Given the description of an element on the screen output the (x, y) to click on. 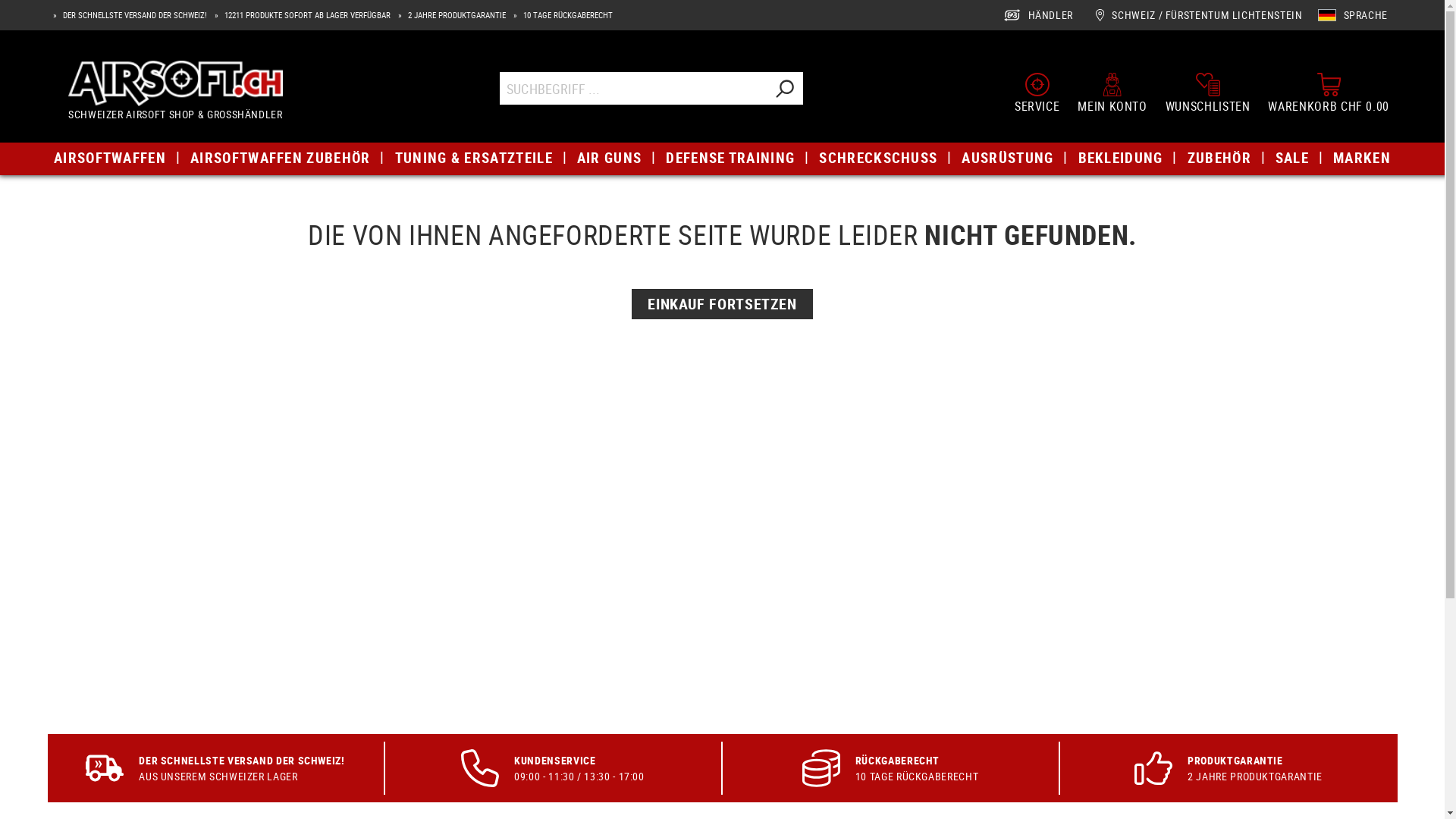
TUNING & ERSATZTEILE Element type: text (473, 158)
BEKLEIDUNG Element type: text (1120, 158)
MEIN KONTO Element type: text (1111, 92)
SERVICE Element type: text (1036, 92)
SALE Element type: text (1292, 158)
WARENKORB CHF 0.00 Element type: text (1328, 92)
AIR GUNS Element type: text (609, 158)
Airsoft.ch Element type: hover (175, 83)
AIRSOFTWAFFEN Element type: text (109, 158)
DEFENSE TRAINING Element type: text (729, 158)
Airsoft.ch Element type: hover (175, 92)
WUNSCHLISTEN Element type: text (1207, 92)
SCHRECKSCHUSS Element type: text (877, 158)
EINKAUF FORTSETZEN Element type: text (721, 303)
MARKEN Element type: text (1361, 158)
